Given the description of an element on the screen output the (x, y) to click on. 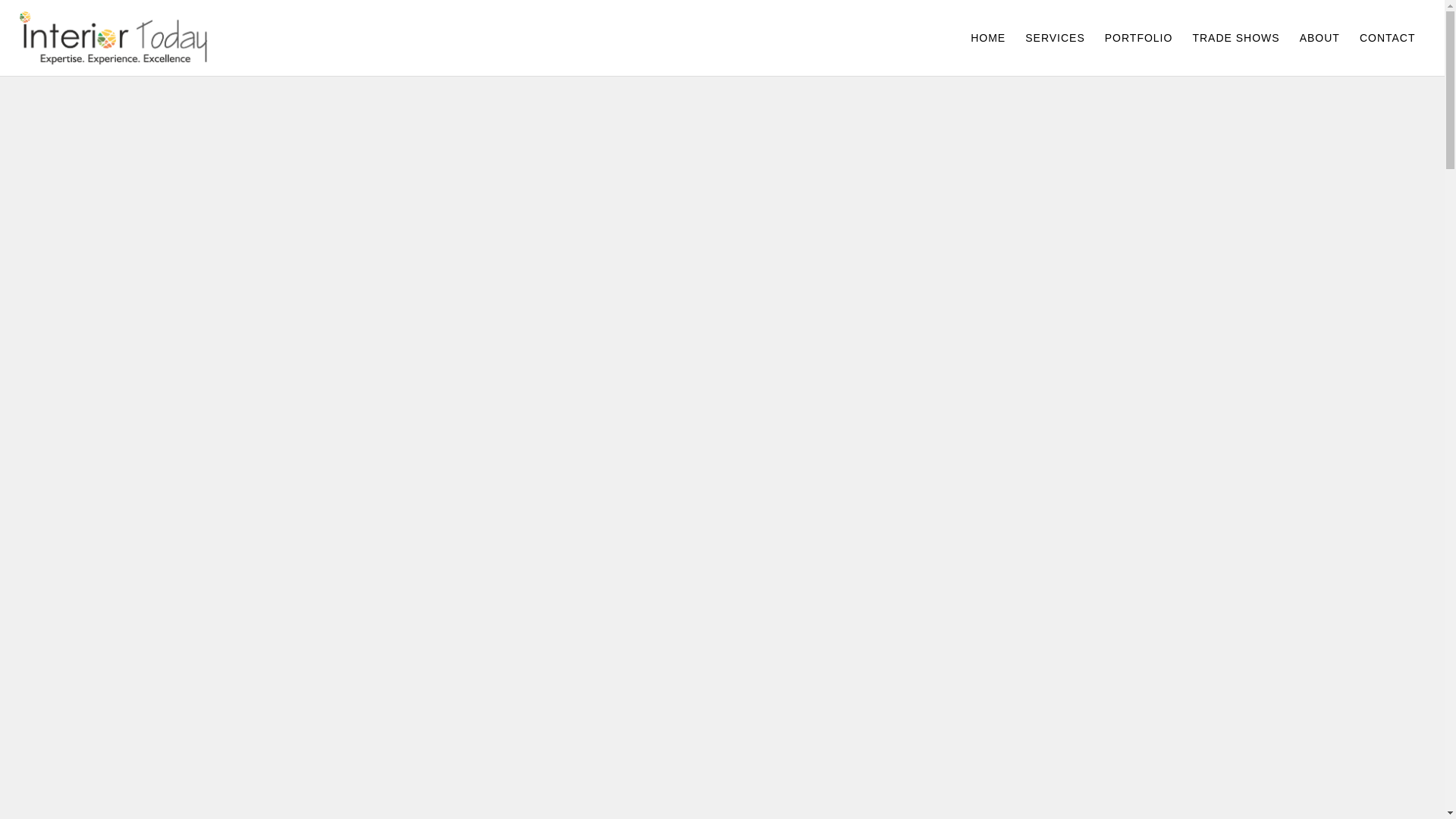
SERVICES (1054, 37)
CONTACT (1387, 37)
ABOUT (1319, 37)
HOME (987, 37)
PORTFOLIO (1138, 37)
TRADE SHOWS (1235, 37)
